Given the description of an element on the screen output the (x, y) to click on. 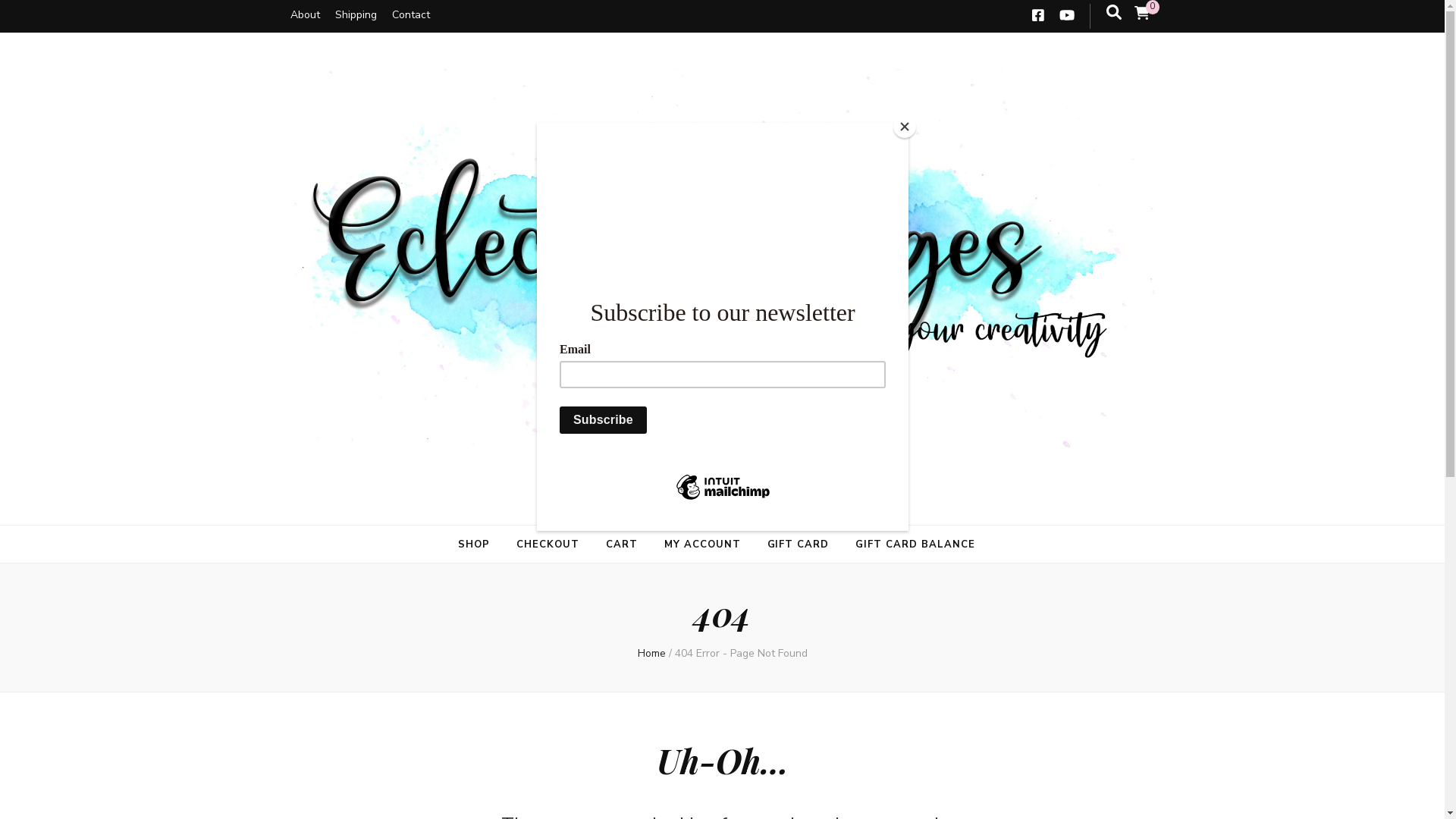
GIFT CARD BALANCE Element type: text (915, 544)
MY ACCOUNT Element type: text (702, 544)
Home Element type: text (651, 653)
Eclectic Images Element type: text (444, 511)
0 Element type: text (1141, 13)
About Element type: text (304, 15)
Shipping Element type: text (355, 15)
SHOP Element type: text (473, 544)
GIFT CARD Element type: text (798, 544)
CART Element type: text (621, 544)
Contact Element type: text (410, 15)
CHECKOUT Element type: text (547, 544)
